Given the description of an element on the screen output the (x, y) to click on. 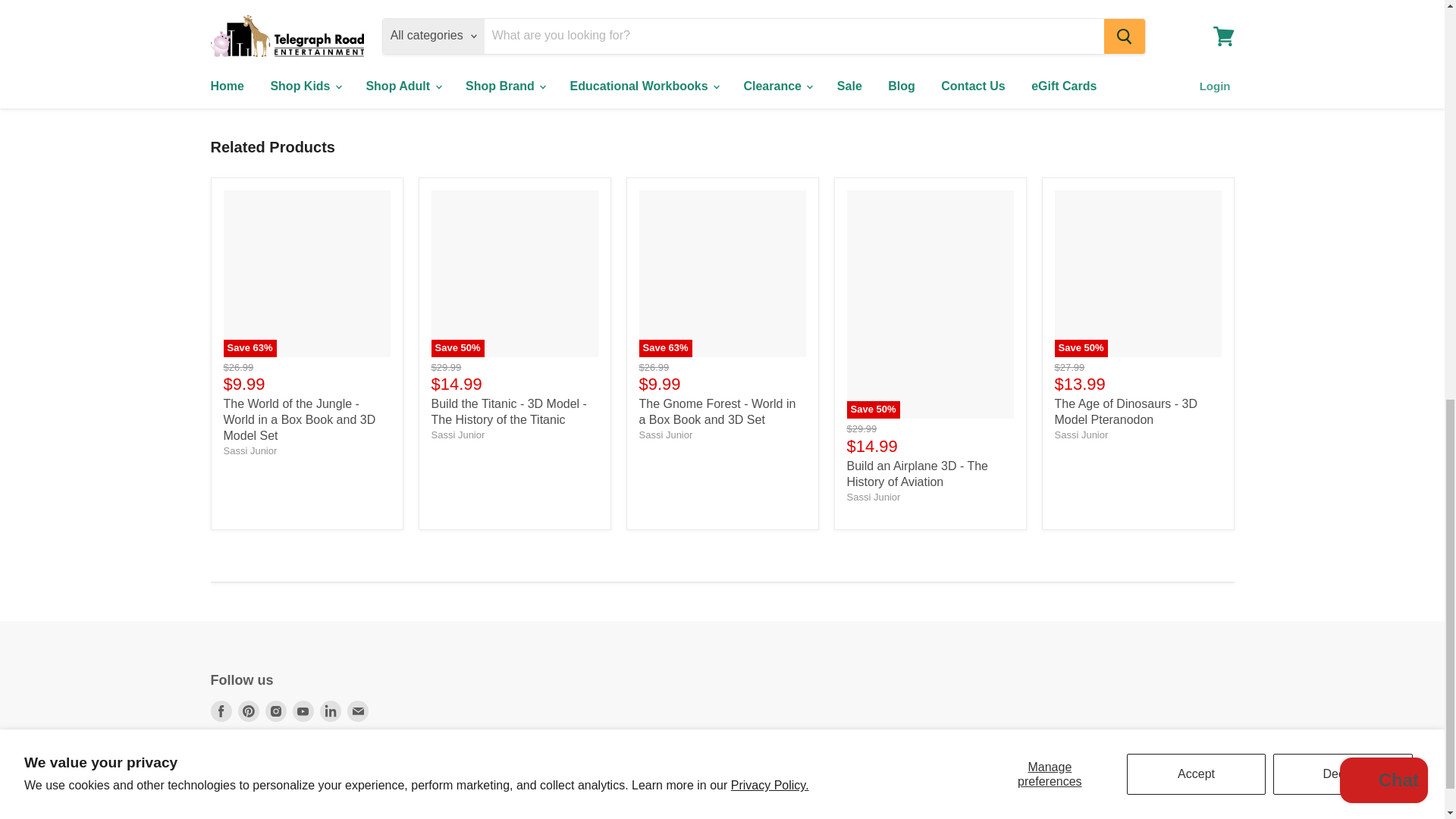
Sassi Junior (1081, 434)
Pinterest (248, 711)
Instagram (275, 711)
E-mail (357, 711)
Sassi Junior (457, 434)
Sassi Junior (666, 434)
Sassi Junior (872, 496)
Sassi Junior (249, 450)
Youtube (303, 711)
Facebook (221, 711)
